Given the description of an element on the screen output the (x, y) to click on. 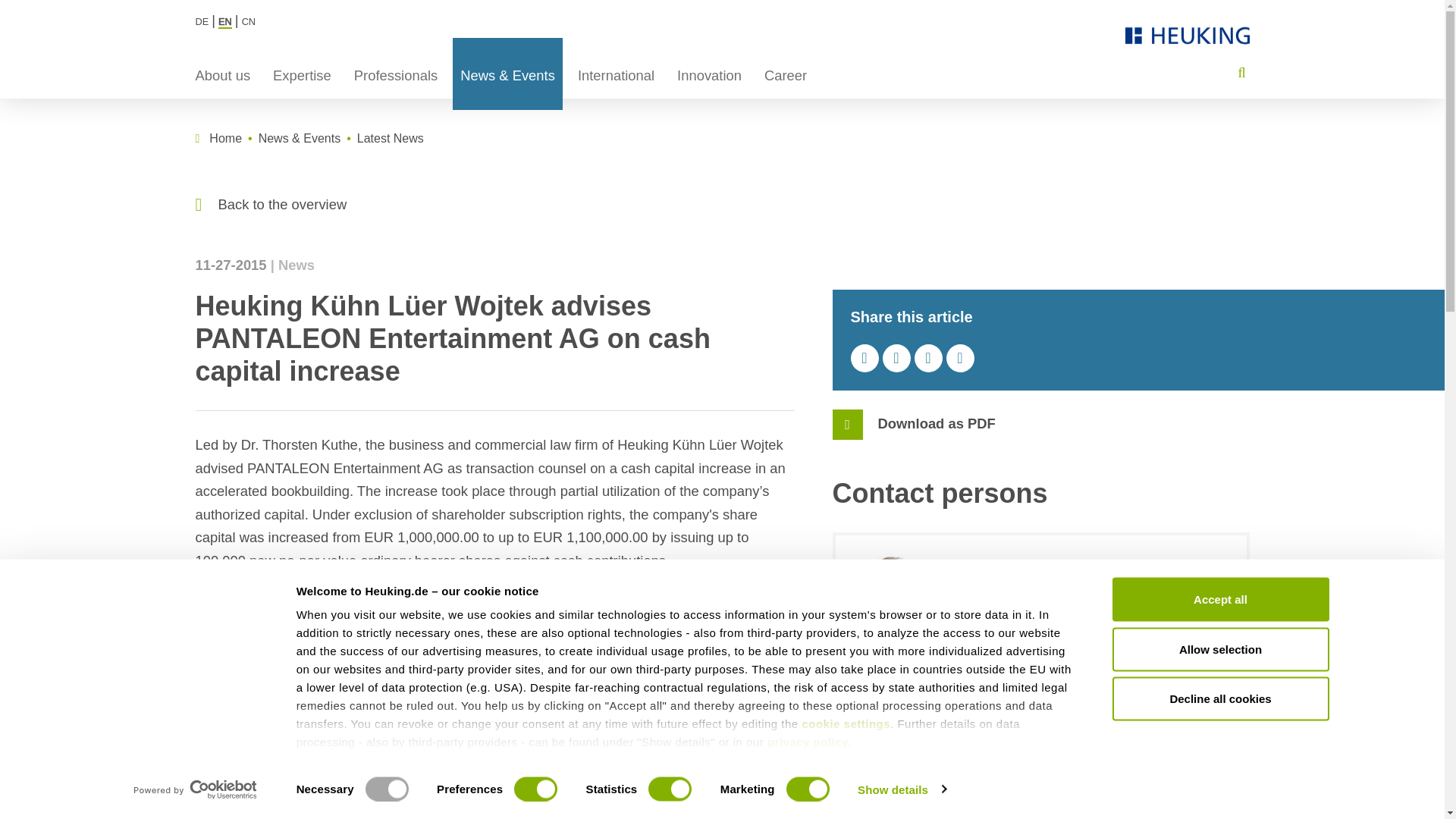
Decline all cookies (1219, 698)
cookie settings (845, 723)
About us (223, 73)
Show details (900, 789)
Open the privacy policy (807, 741)
Open the Cookie Settings (845, 723)
privacy policy (807, 741)
